Given the description of an element on the screen output the (x, y) to click on. 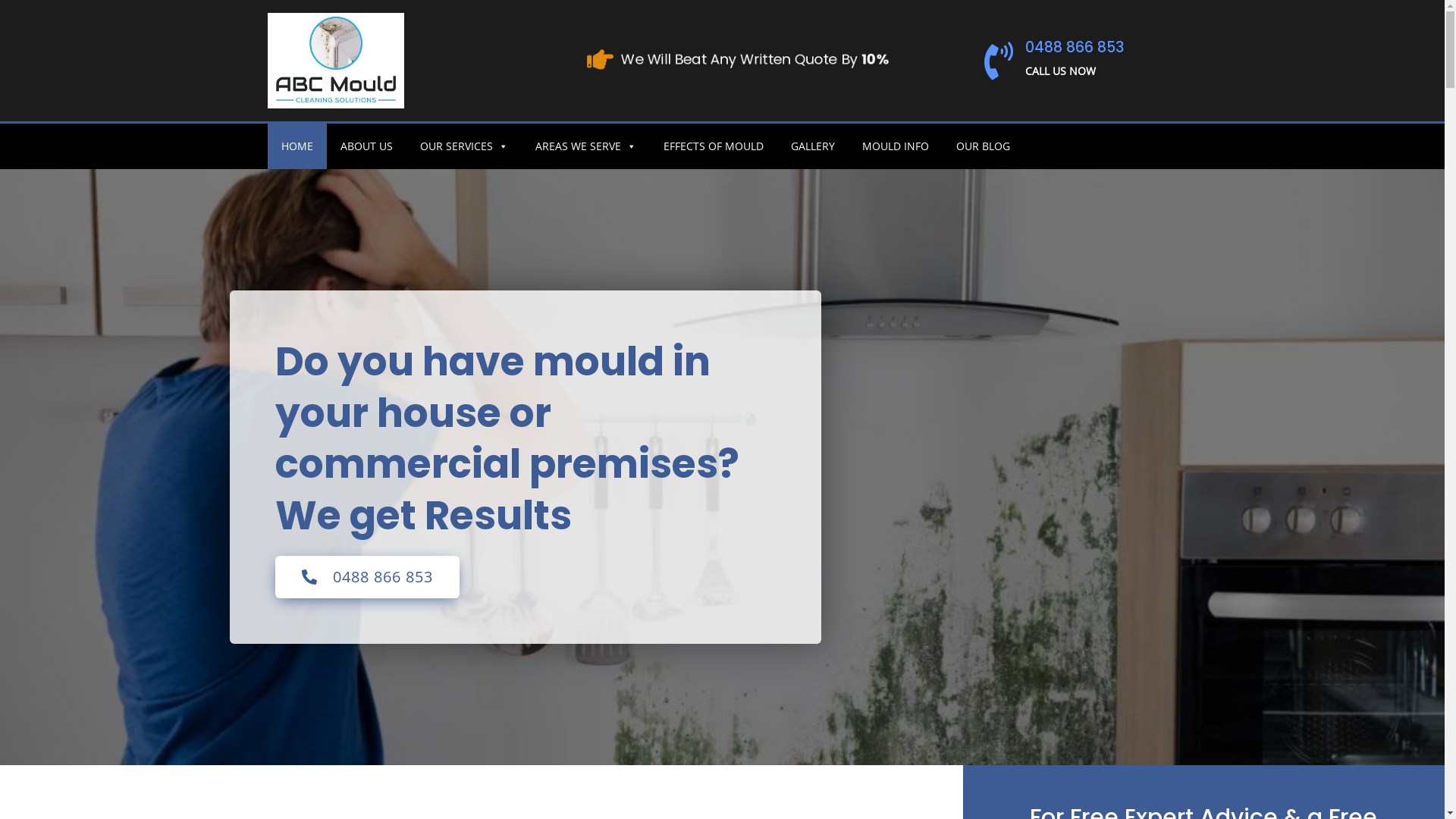
HOME Element type: text (296, 146)
GALLERY Element type: text (811, 146)
MOULD INFO Element type: text (894, 146)
OUR BLOG Element type: text (981, 146)
EFFECTS OF MOULD Element type: text (712, 146)
AREAS WE SERVE Element type: text (585, 146)
OUR SERVICES Element type: text (463, 146)
0488 866 853 Element type: text (366, 576)
0488 866 853 Element type: text (1074, 47)
ABOUT US Element type: text (365, 146)
